Given the description of an element on the screen output the (x, y) to click on. 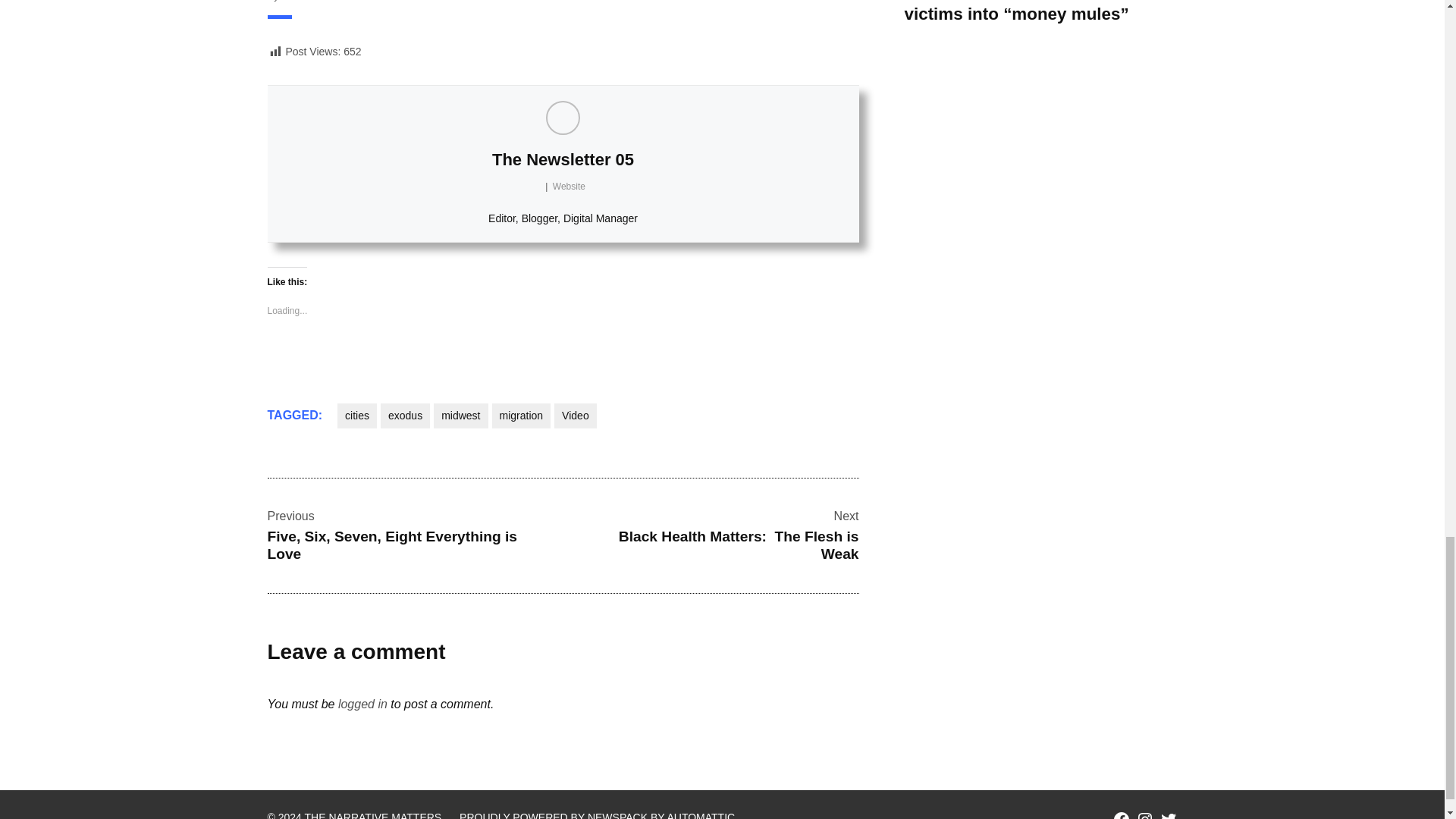
cities (357, 415)
midwest (460, 415)
The Newsletter 05 (562, 158)
Website (569, 185)
exodus (404, 415)
